Given the description of an element on the screen output the (x, y) to click on. 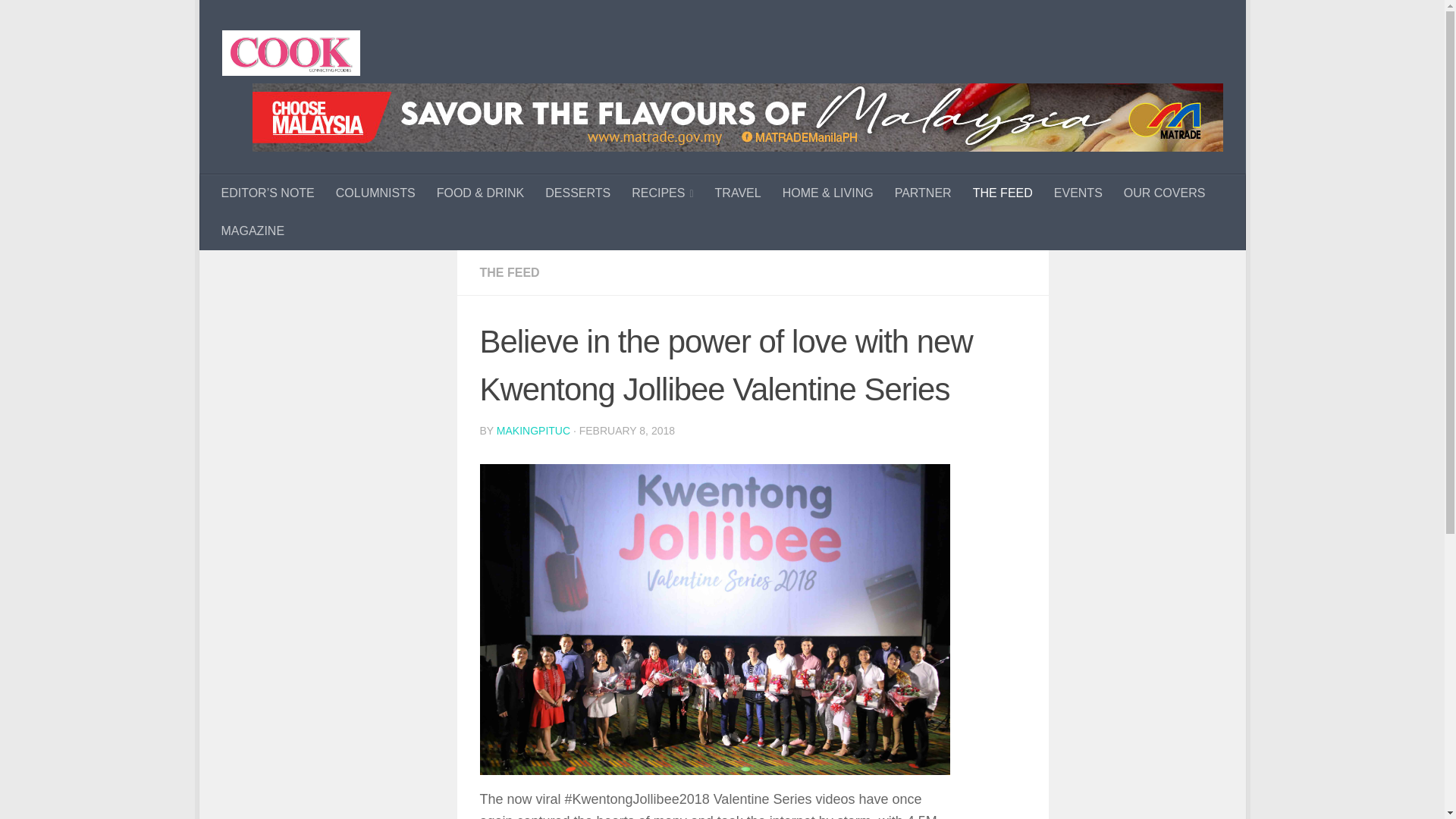
RECIPES (662, 193)
DESSERTS (577, 193)
Skip to content (263, 20)
COLUMNISTS (375, 193)
Posts by makingpituc (533, 430)
